Given the description of an element on the screen output the (x, y) to click on. 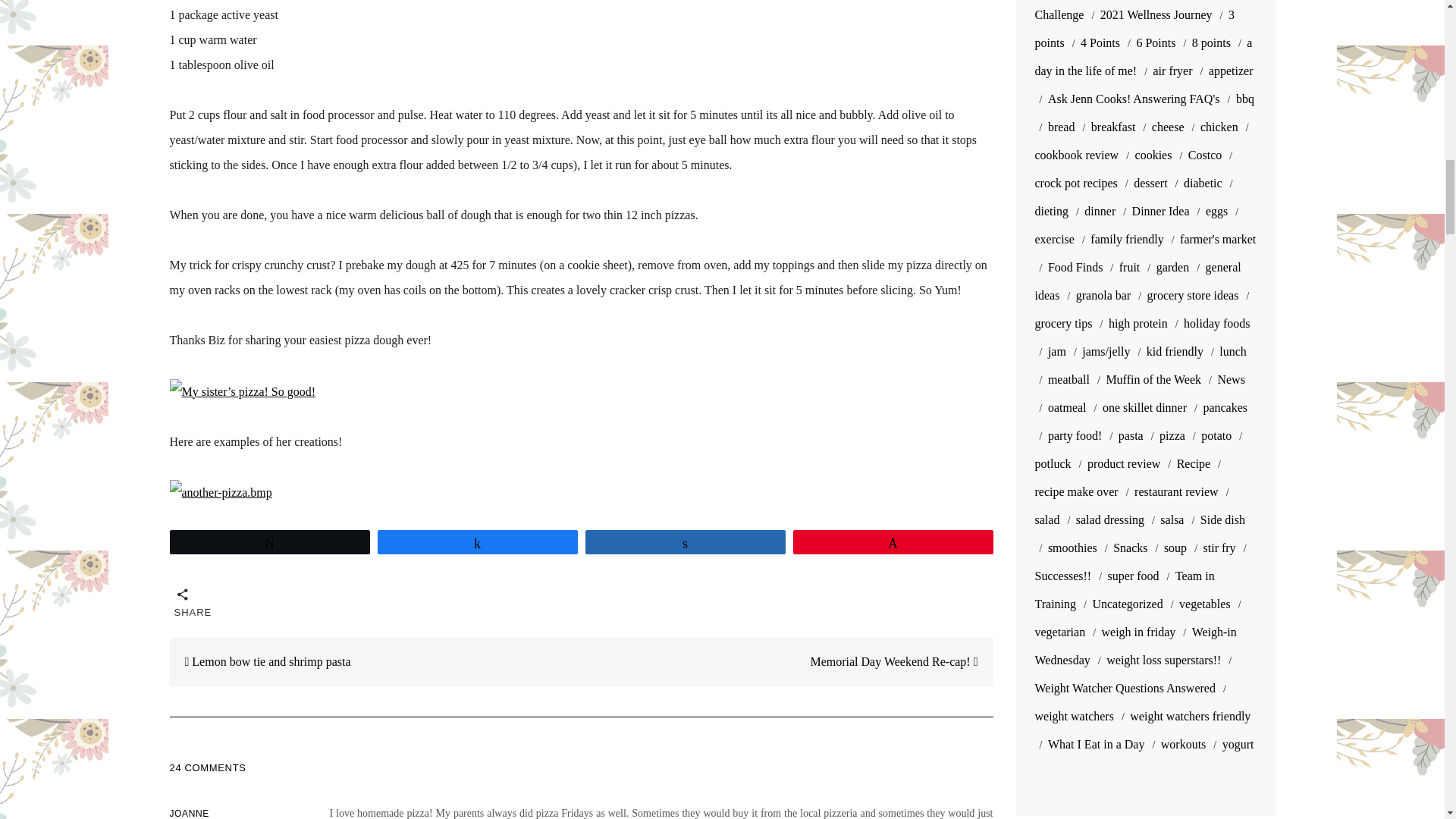
another-pizza.bmp (221, 491)
JOANNE (189, 813)
Memorial Day Weekend Re-cap! (900, 662)
Lemon bow tie and shrimp pasta (260, 662)
SHARE (183, 599)
